Given the description of an element on the screen output the (x, y) to click on. 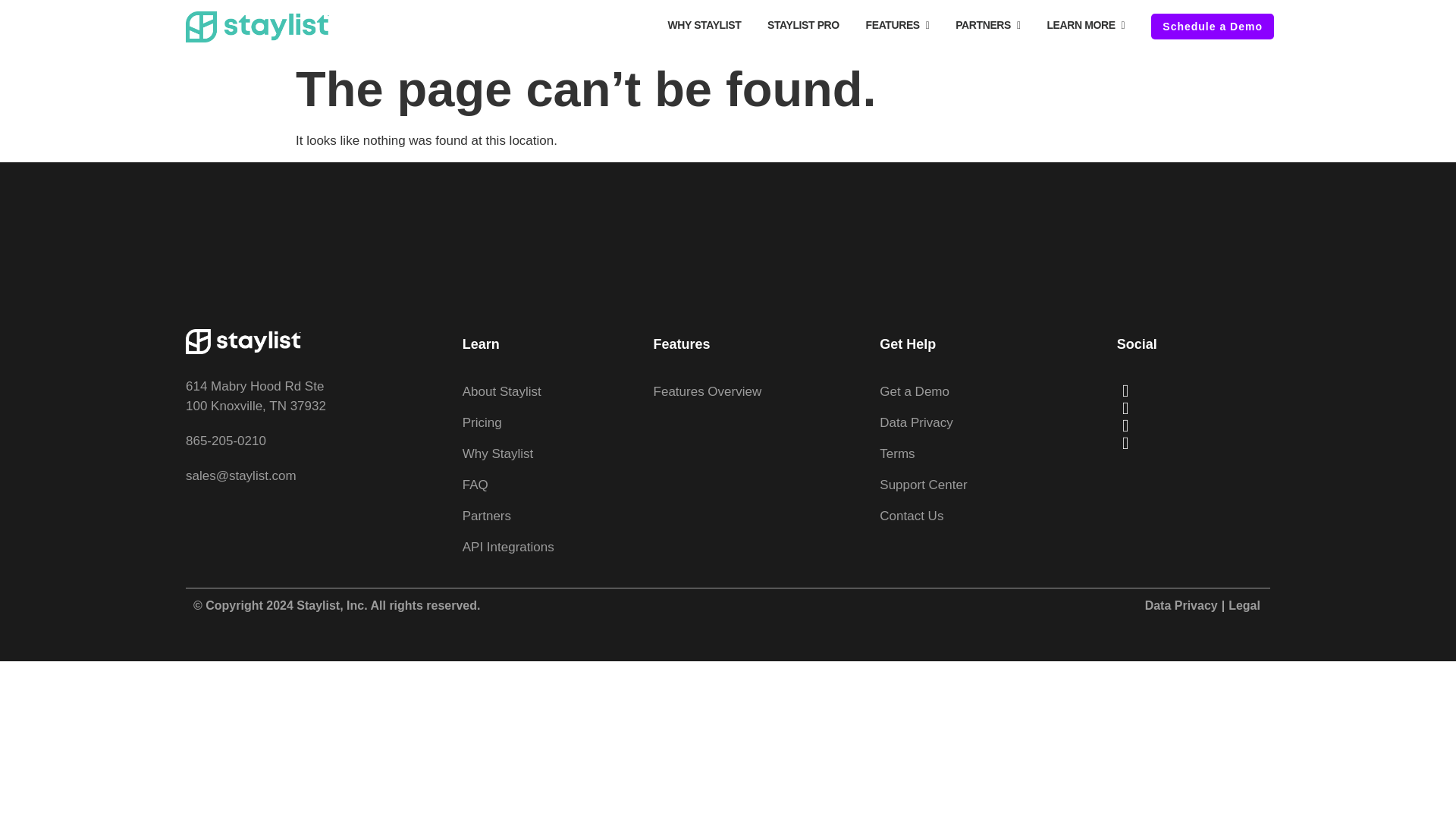
STAYLIST PRO (802, 24)
FEATURES (897, 25)
PARTNERS (987, 25)
WHY STAYLIST (704, 24)
Schedule a Demo (1212, 26)
LEARN MORE (1085, 25)
